Given the description of an element on the screen output the (x, y) to click on. 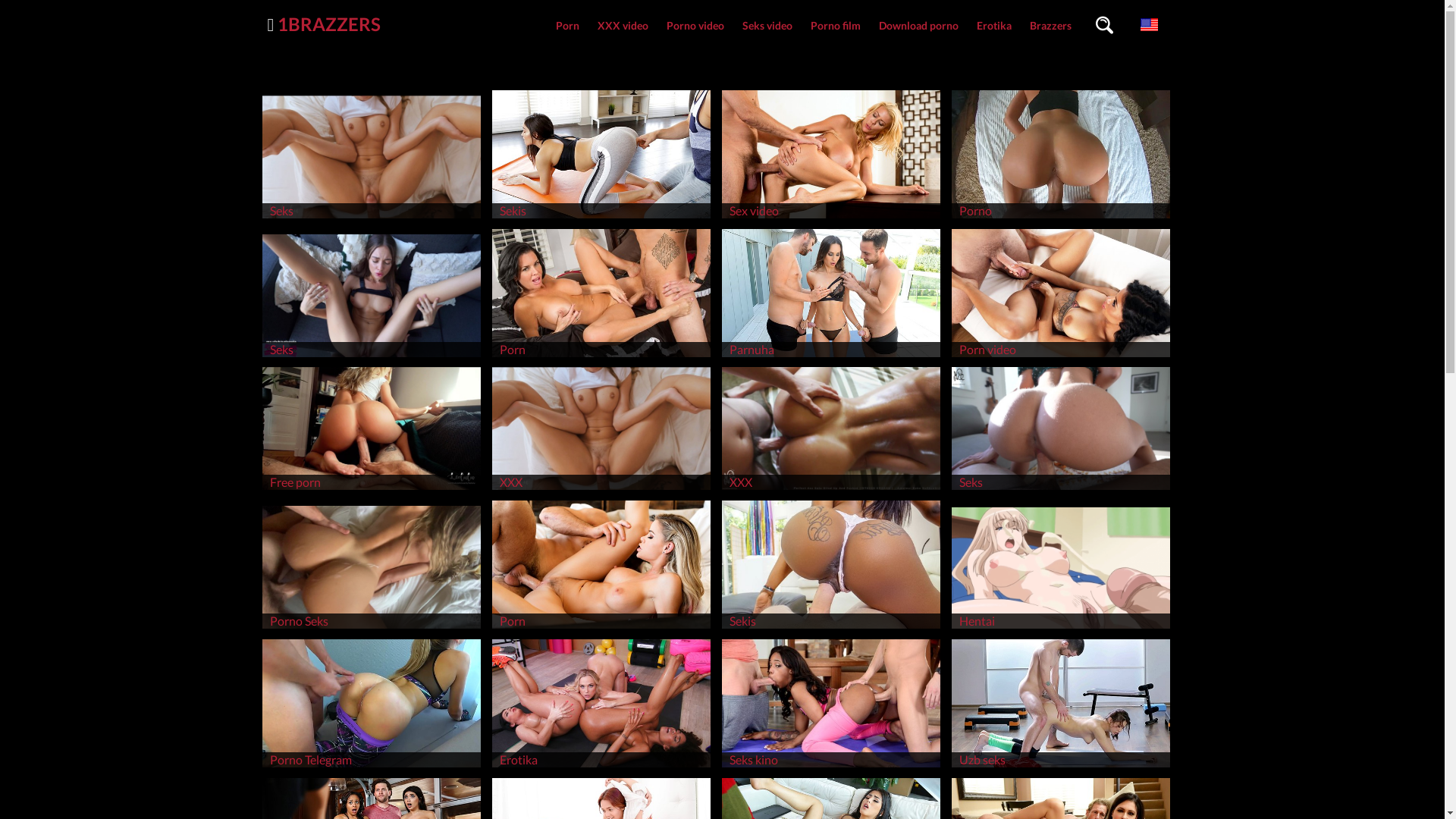
Erotika Element type: text (601, 766)
Parnuha Element type: text (830, 356)
Seks video Element type: text (766, 25)
Free porn Element type: text (371, 489)
Porno Seks Element type: text (371, 628)
Uzb seks Element type: text (1060, 766)
Hentai Element type: text (1060, 628)
Seks kino Element type: text (830, 766)
XXX video Element type: text (622, 25)
Porn video Element type: text (1060, 356)
Seks Element type: text (371, 217)
Sekis Element type: text (830, 628)
Porno video Element type: text (694, 25)
Porn Element type: text (566, 25)
Porn Element type: text (601, 628)
Sex video Element type: text (830, 217)
Porno Telegram Element type: text (371, 766)
XXX Element type: text (601, 489)
Search videos Element type: hover (1103, 25)
Brazzers Element type: text (1050, 25)
Porno film Element type: text (834, 25)
Sekis Element type: text (601, 217)
XXX Element type: text (830, 489)
Porn Element type: text (601, 356)
Download porno Element type: text (917, 25)
Erotika Element type: text (993, 25)
Seks Element type: text (1060, 489)
Porno Element type: text (1060, 217)
Seks Element type: text (371, 356)
1BRAZZERS Element type: text (328, 23)
